Given the description of an element on the screen output the (x, y) to click on. 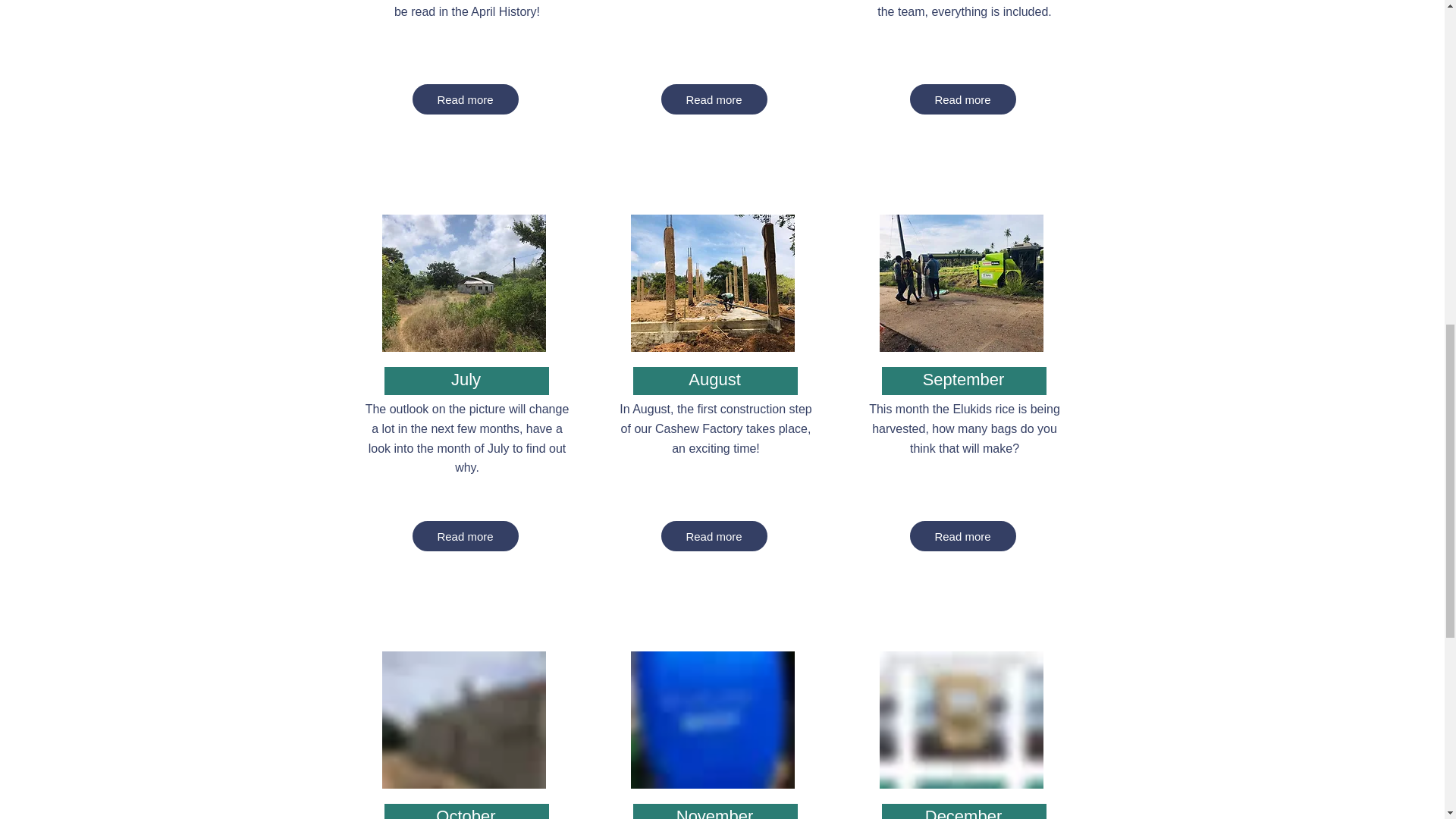
Read more (963, 99)
Read more (465, 99)
Read more (714, 535)
Read more (714, 99)
Read more (465, 535)
Read more (963, 535)
